Given the description of an element on the screen output the (x, y) to click on. 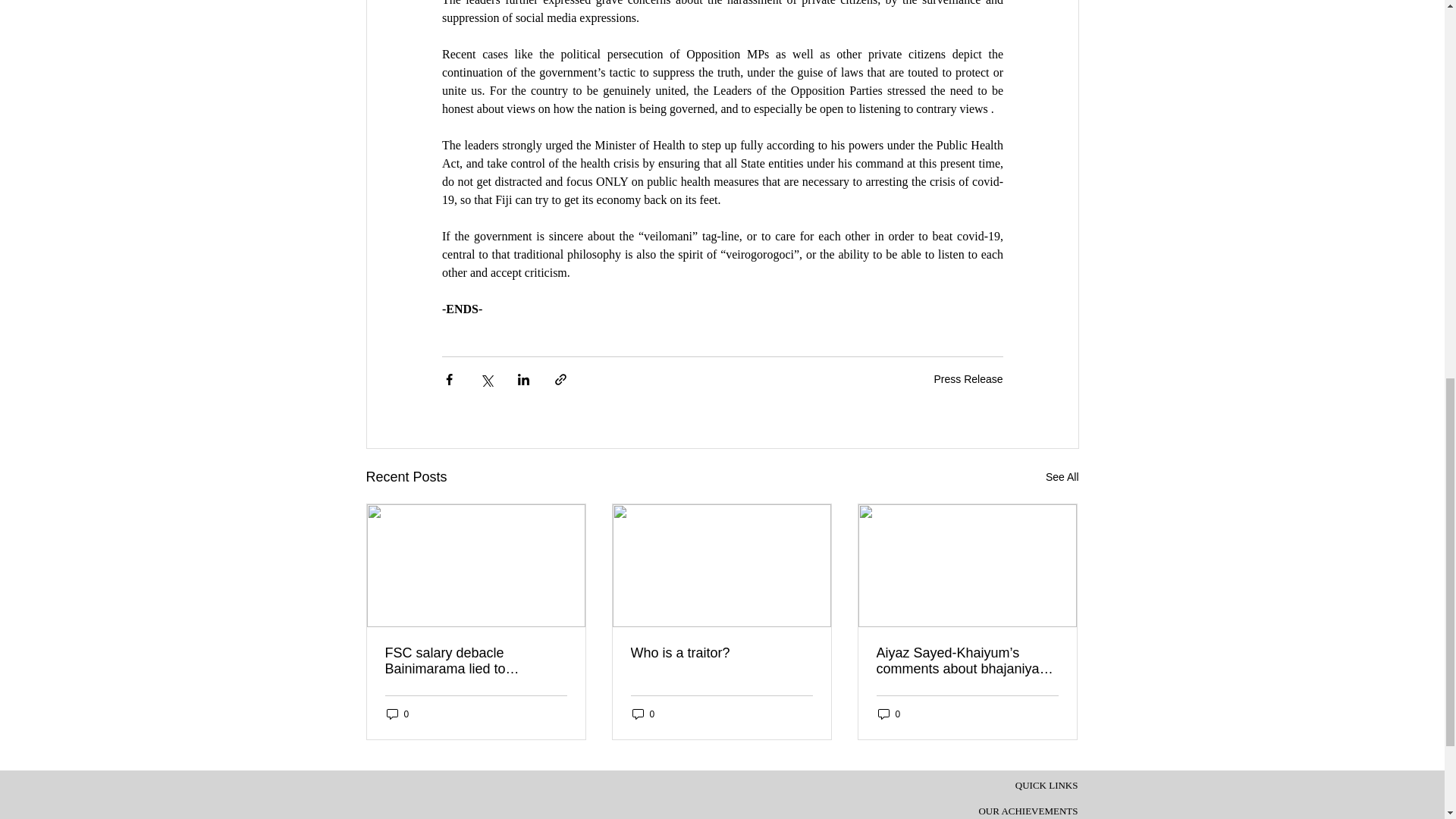
0 (397, 713)
Who is a traitor? (721, 652)
FSC salary debacle Bainimarama lied to Parliament (476, 661)
Press Release (968, 378)
See All (1061, 477)
